Given the description of an element on the screen output the (x, y) to click on. 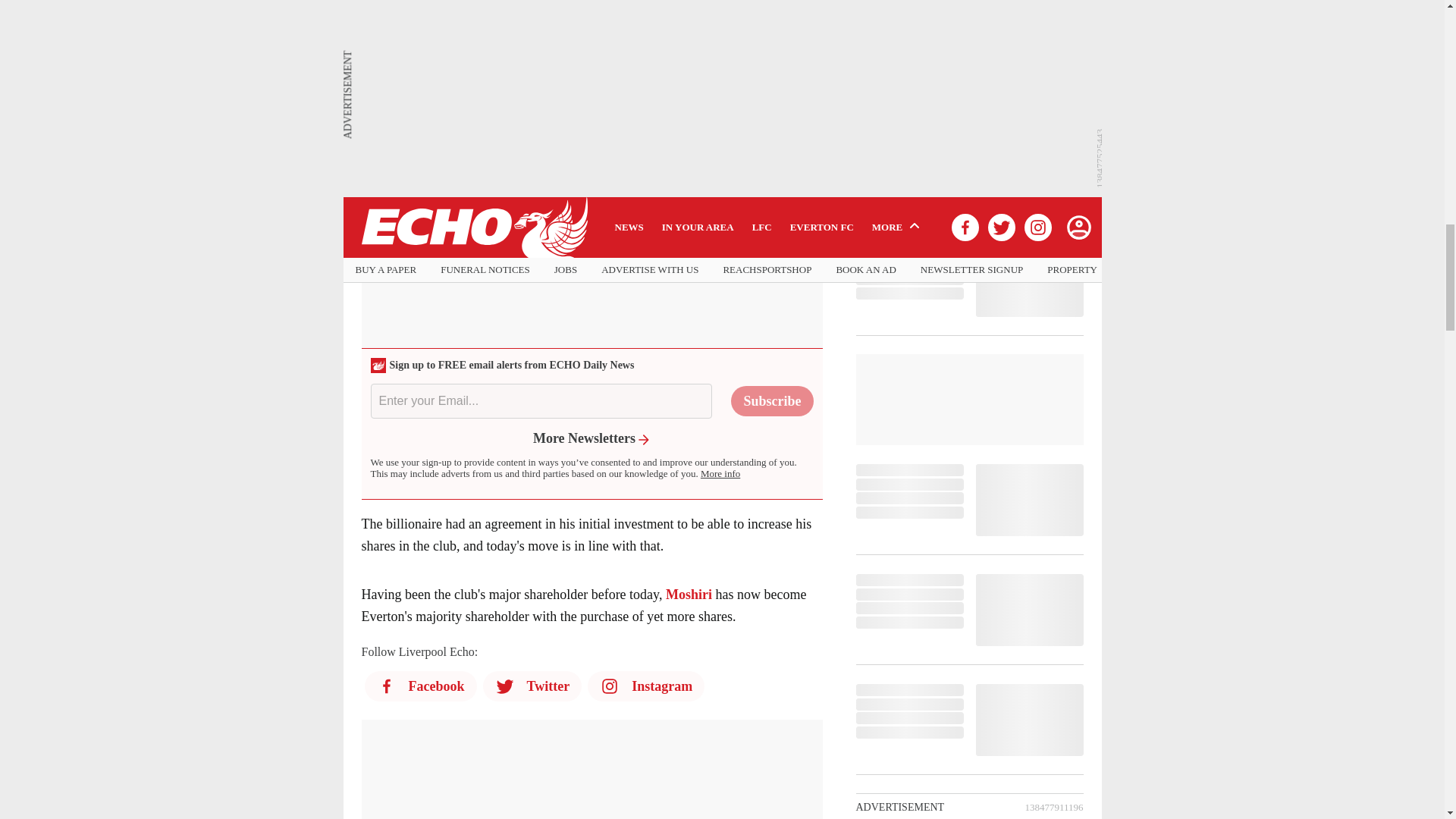
More info (719, 473)
More Newsletters (591, 437)
Instagram (646, 685)
Facebook (420, 685)
Moshiri (688, 594)
Twitter (530, 685)
Subscribe (771, 400)
